Given the description of an element on the screen output the (x, y) to click on. 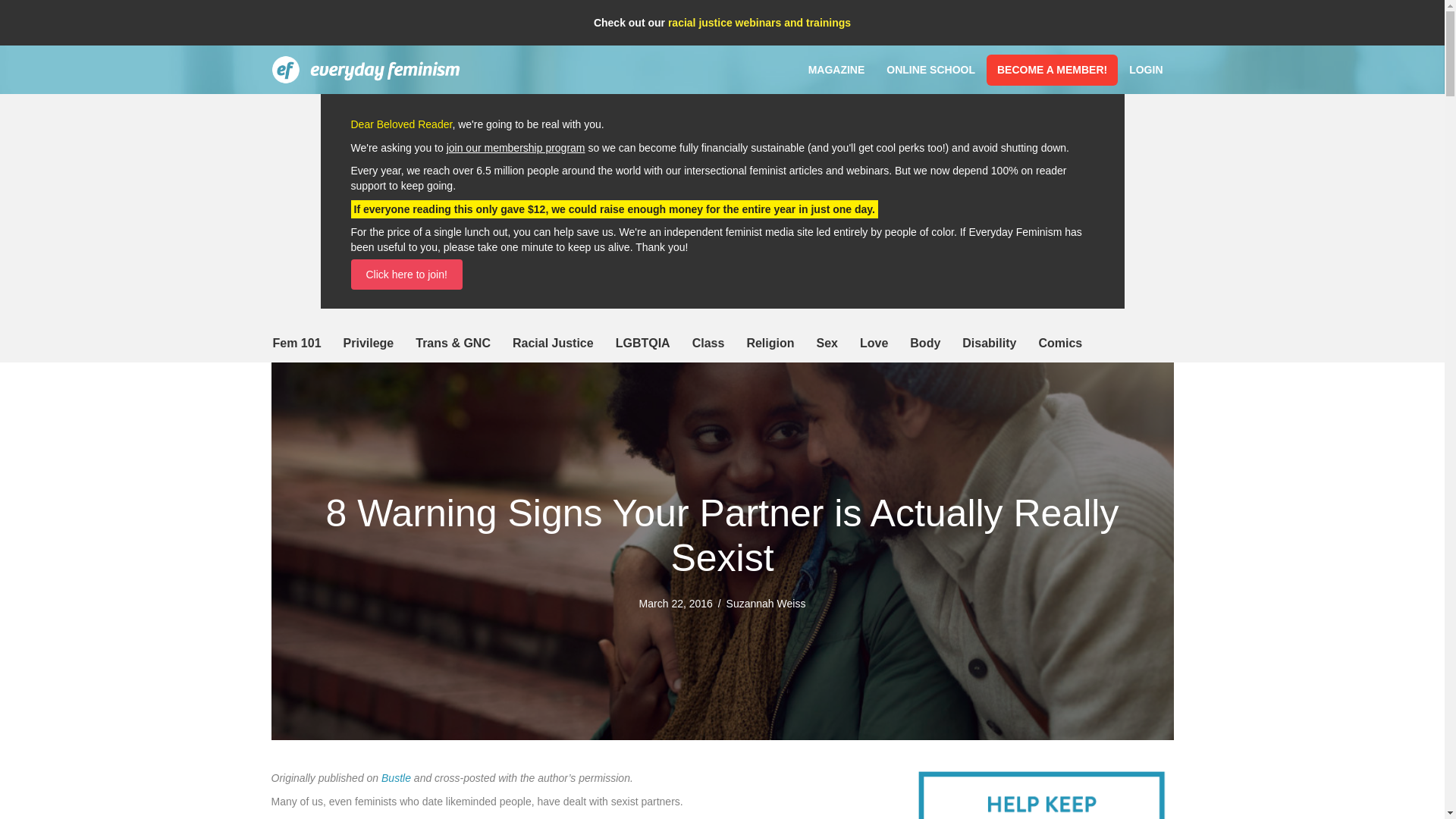
Religion (770, 342)
Click here to join! (405, 274)
Body (924, 342)
MAGAZINE (836, 69)
join our membership program (515, 147)
Class (708, 342)
BECOME A MEMBER! (1052, 69)
Comics (1060, 342)
Disability (989, 342)
Racial Justice (553, 342)
Sex (826, 342)
LOGIN (1145, 69)
Top-bar-logo2 (365, 69)
Fem 101 (296, 342)
LGBTQIA (643, 342)
